Given the description of an element on the screen output the (x, y) to click on. 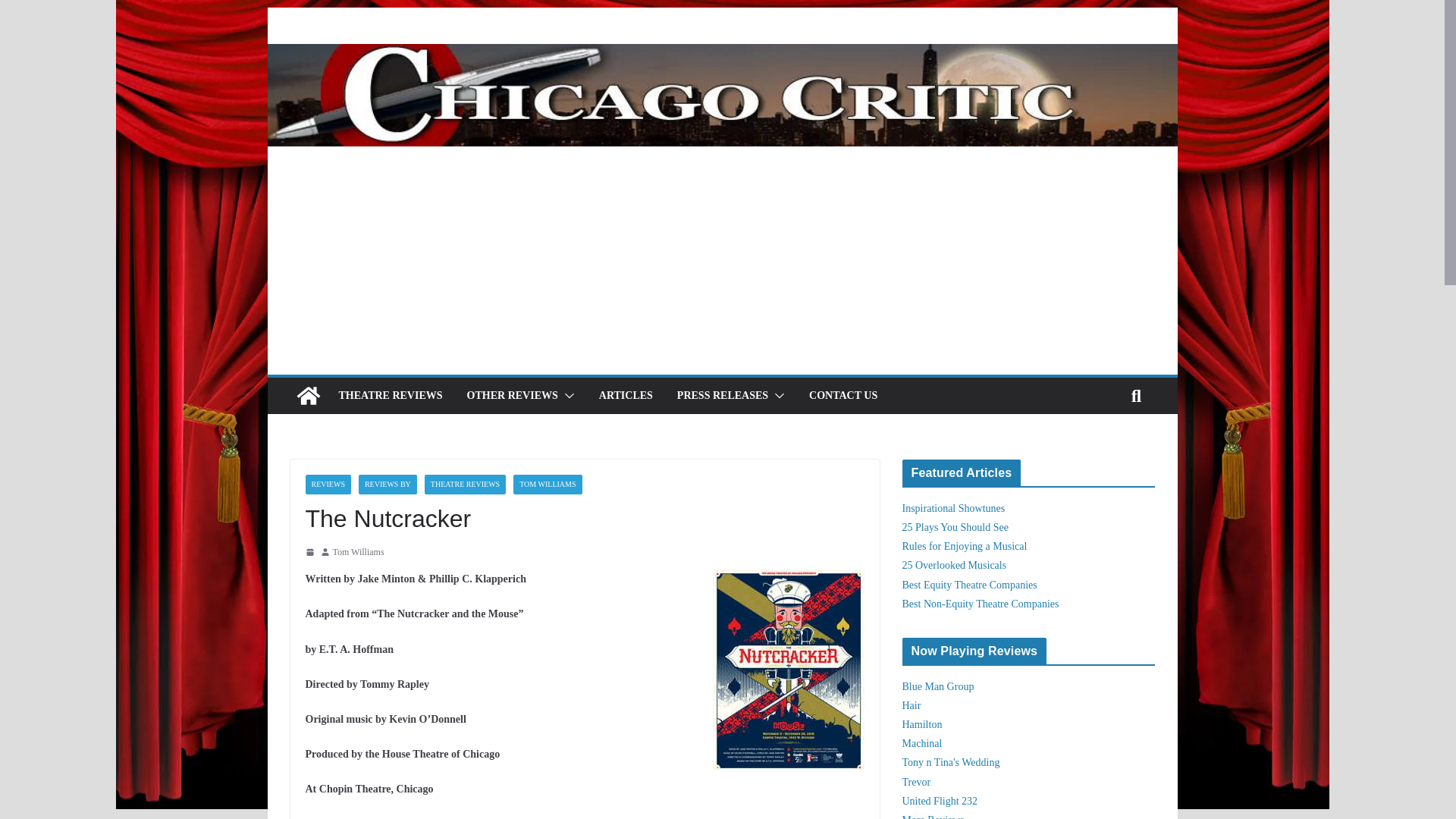
REVIEWS BY (387, 484)
Best Non-Equity Theatre Companies (980, 603)
THEATRE REVIEWS (465, 484)
THEATRE REVIEWS (389, 395)
25 Plays You Should See (955, 527)
TOM WILLIAMS (546, 484)
Rules for Enjoying a Musical (964, 546)
Inspirational Showtunes (954, 508)
